Given the description of an element on the screen output the (x, y) to click on. 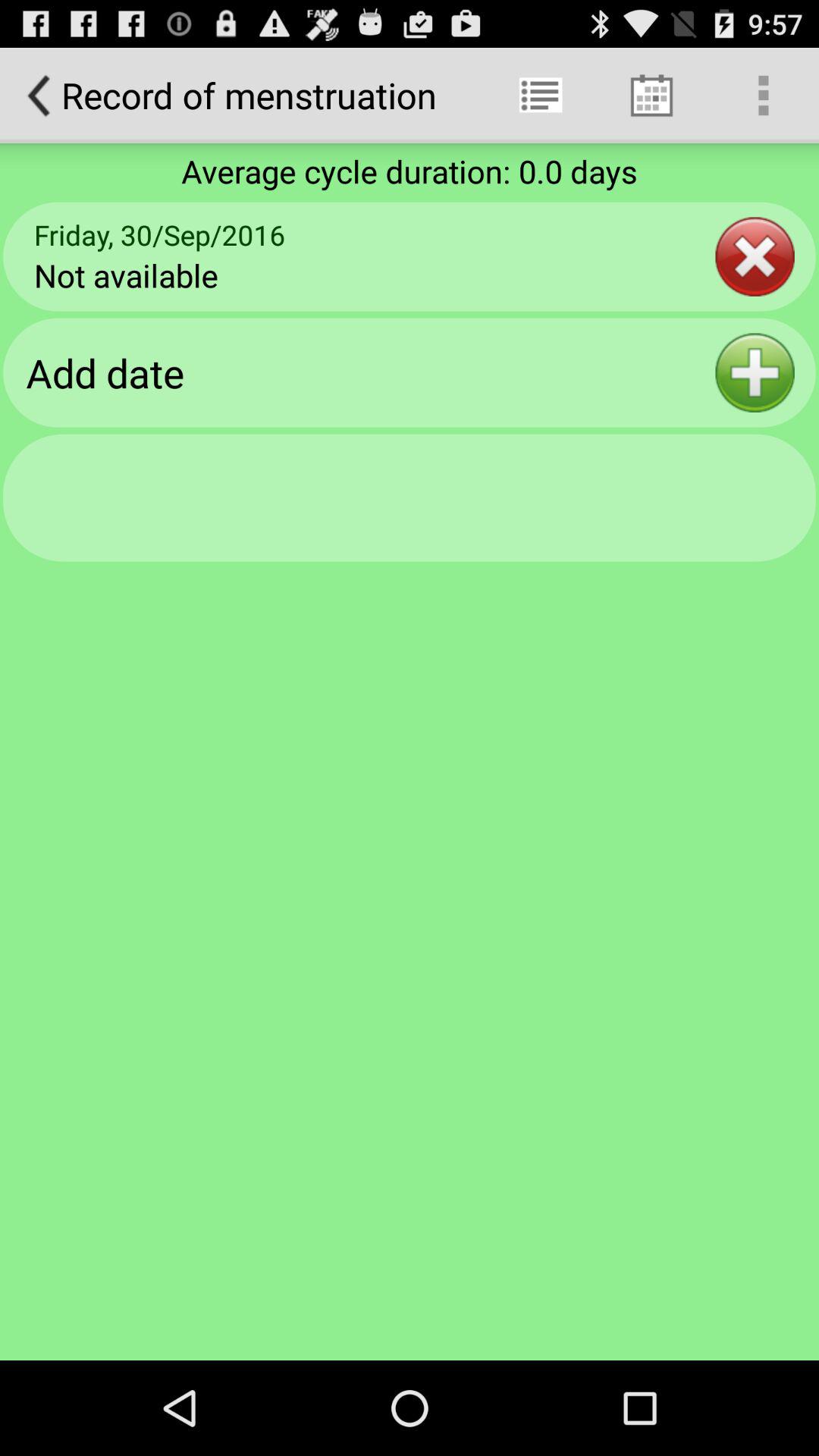
go to close (754, 256)
